Given the description of an element on the screen output the (x, y) to click on. 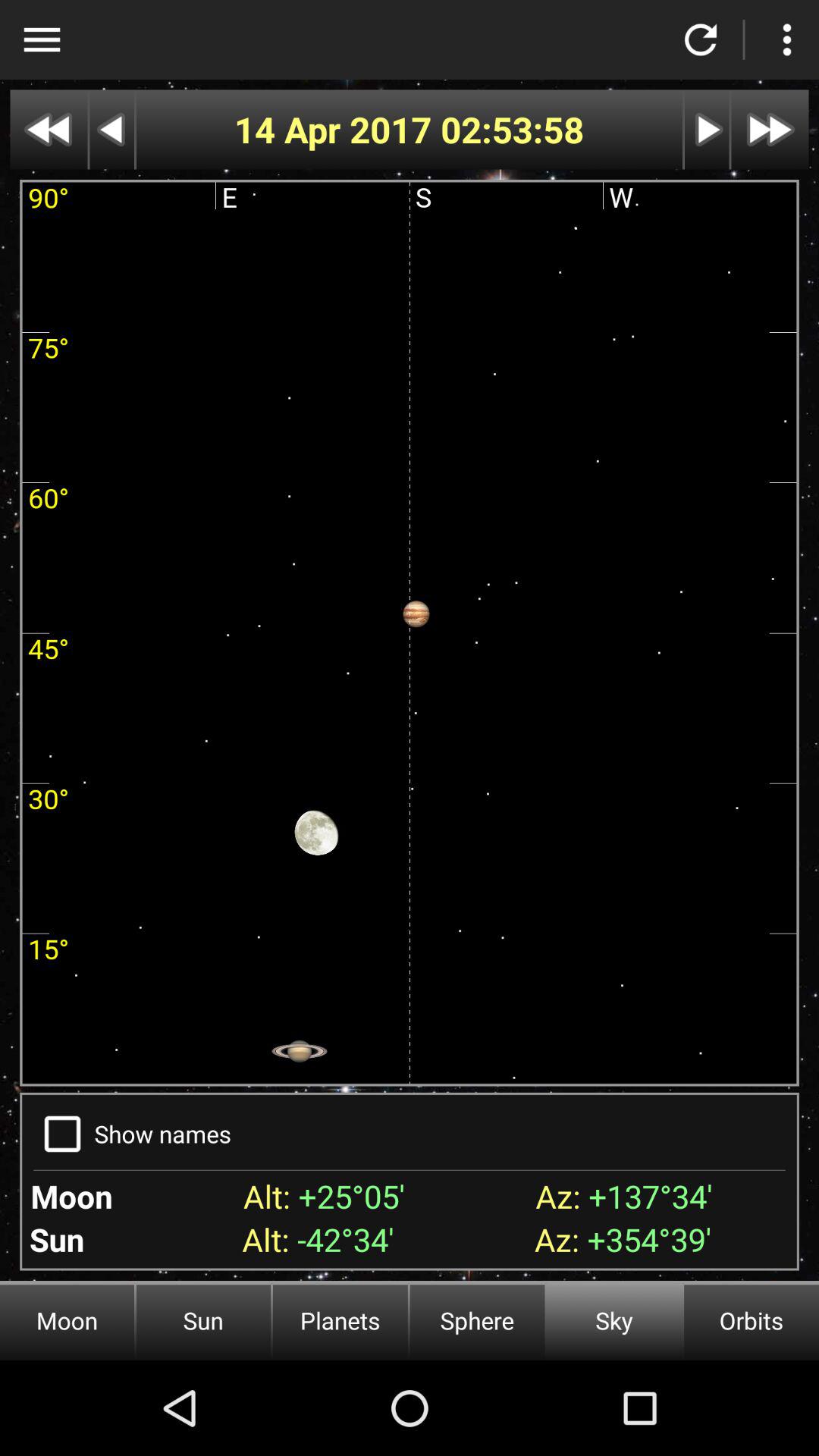
flip until show names app (162, 1133)
